Given the description of an element on the screen output the (x, y) to click on. 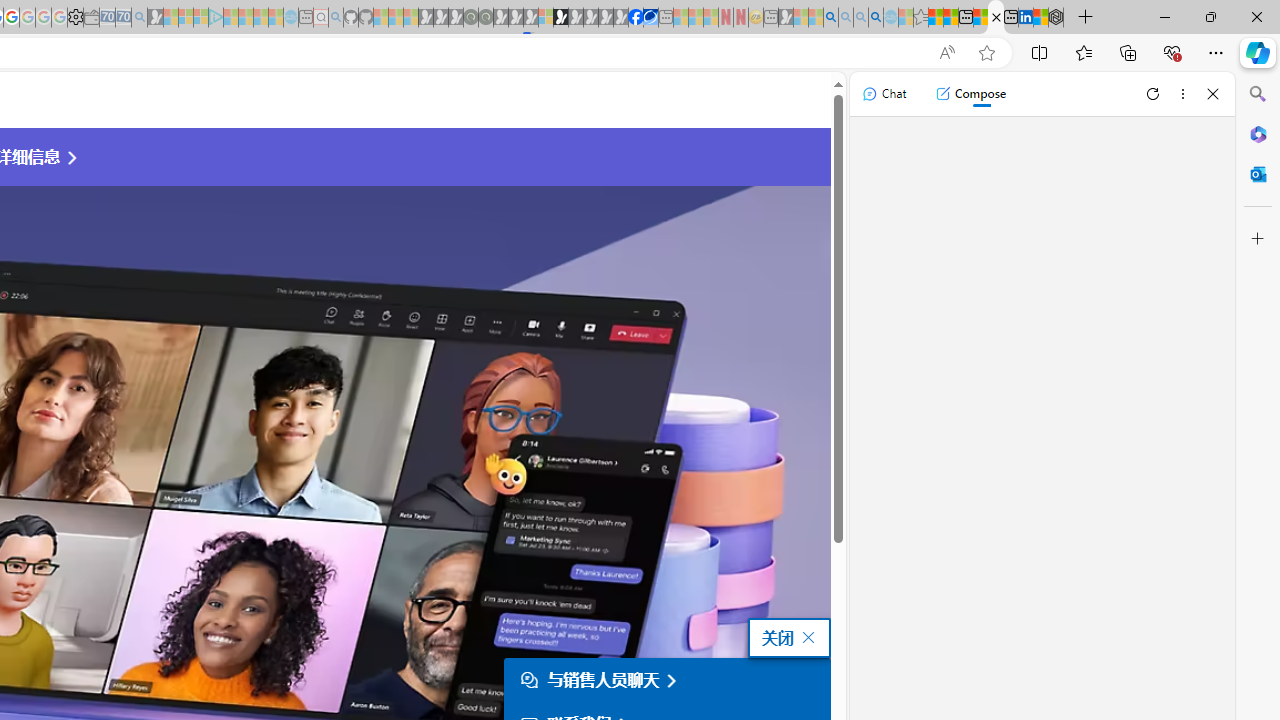
Nordace | Facebook (635, 17)
Google Chrome Internet Browser Download - Search Images (876, 17)
Aberdeen, Hong Kong SAR weather forecast | Microsoft Weather (950, 17)
MSN - Sleeping (786, 17)
